Given the description of an element on the screen output the (x, y) to click on. 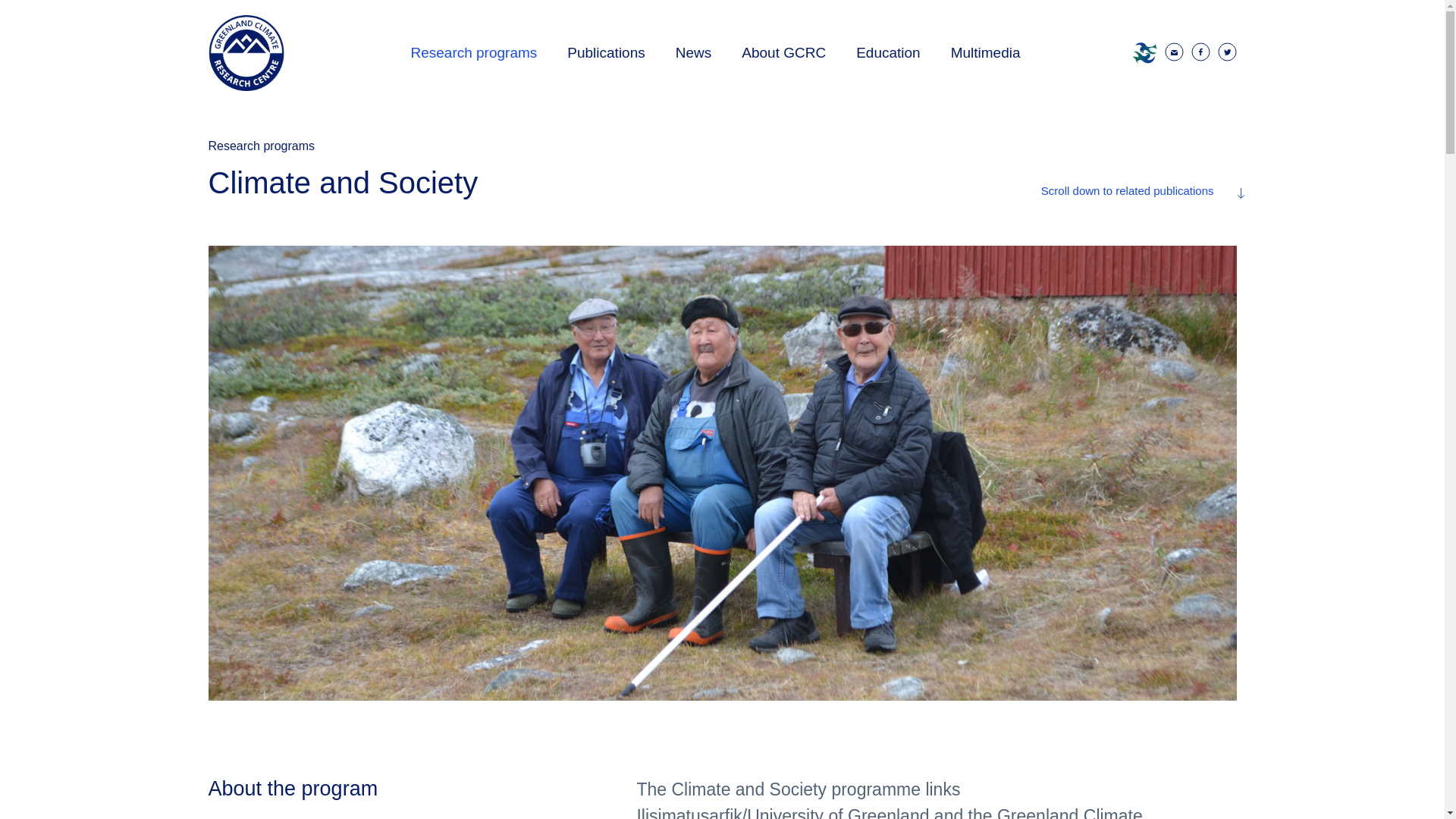
Publications (605, 52)
Multimedia (978, 52)
About GCRC (783, 52)
Education (888, 52)
News (693, 52)
Research programs (472, 52)
